Given the description of an element on the screen output the (x, y) to click on. 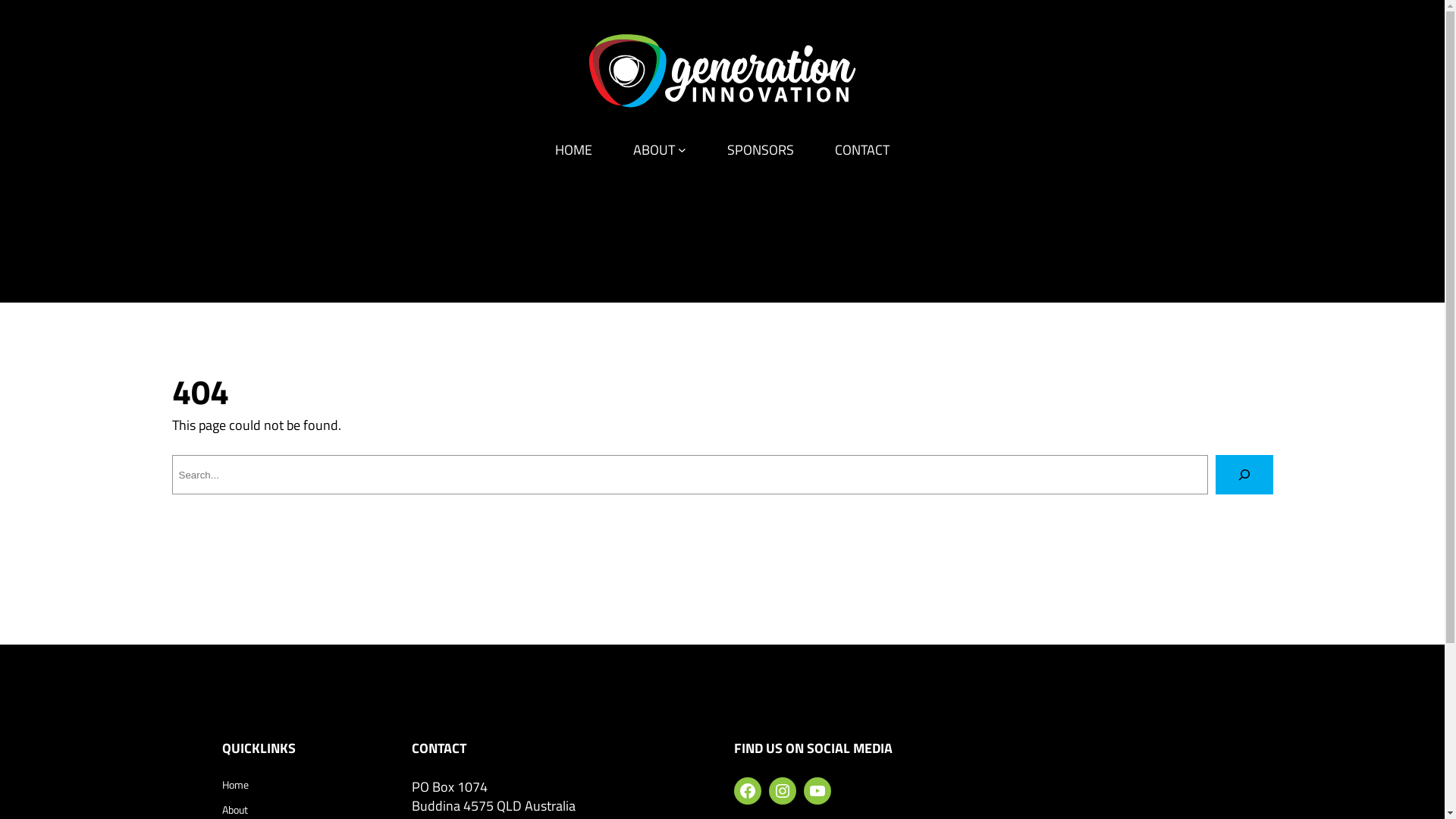
ABOUT Element type: text (653, 149)
Instagram Element type: text (782, 790)
HOME Element type: text (573, 149)
Home Element type: text (234, 784)
Facebook Element type: text (747, 790)
YouTube Element type: text (817, 790)
About Element type: text (234, 809)
CONTACT Element type: text (861, 149)
SPONSORS Element type: text (760, 149)
